Given the description of an element on the screen output the (x, y) to click on. 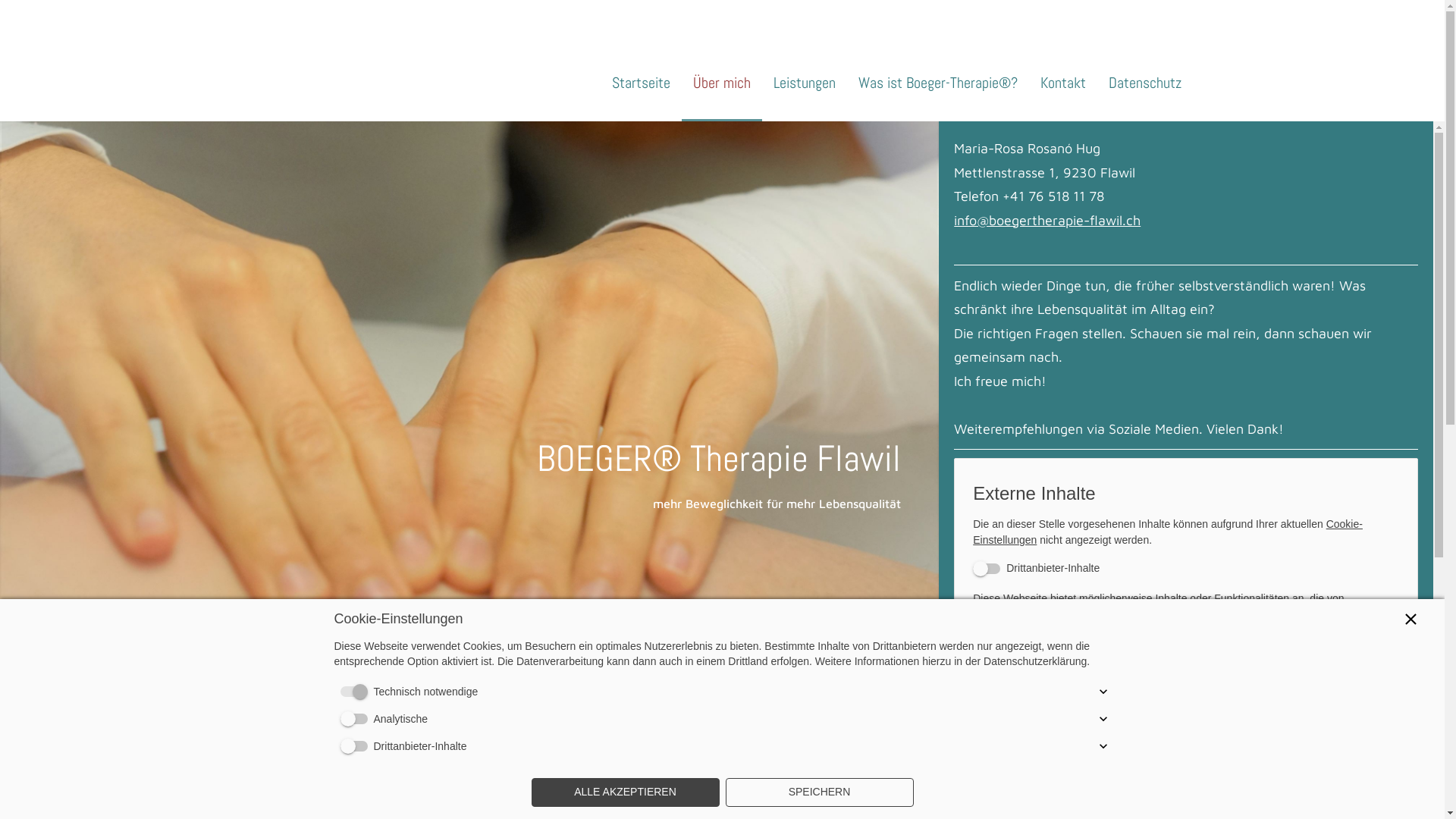
Leistungen Element type: text (804, 82)
Datenschutz Element type: text (1144, 82)
Startseite Element type: text (640, 82)
ALLE AKZEPTIEREN Element type: text (624, 792)
Kontakt Element type: text (1062, 82)
SPEICHERN Element type: text (818, 792)
Cookie-Einstellungen Element type: text (1167, 531)
info@boegertherapie-flawil.ch Element type: text (1046, 220)
